Given the description of an element on the screen output the (x, y) to click on. 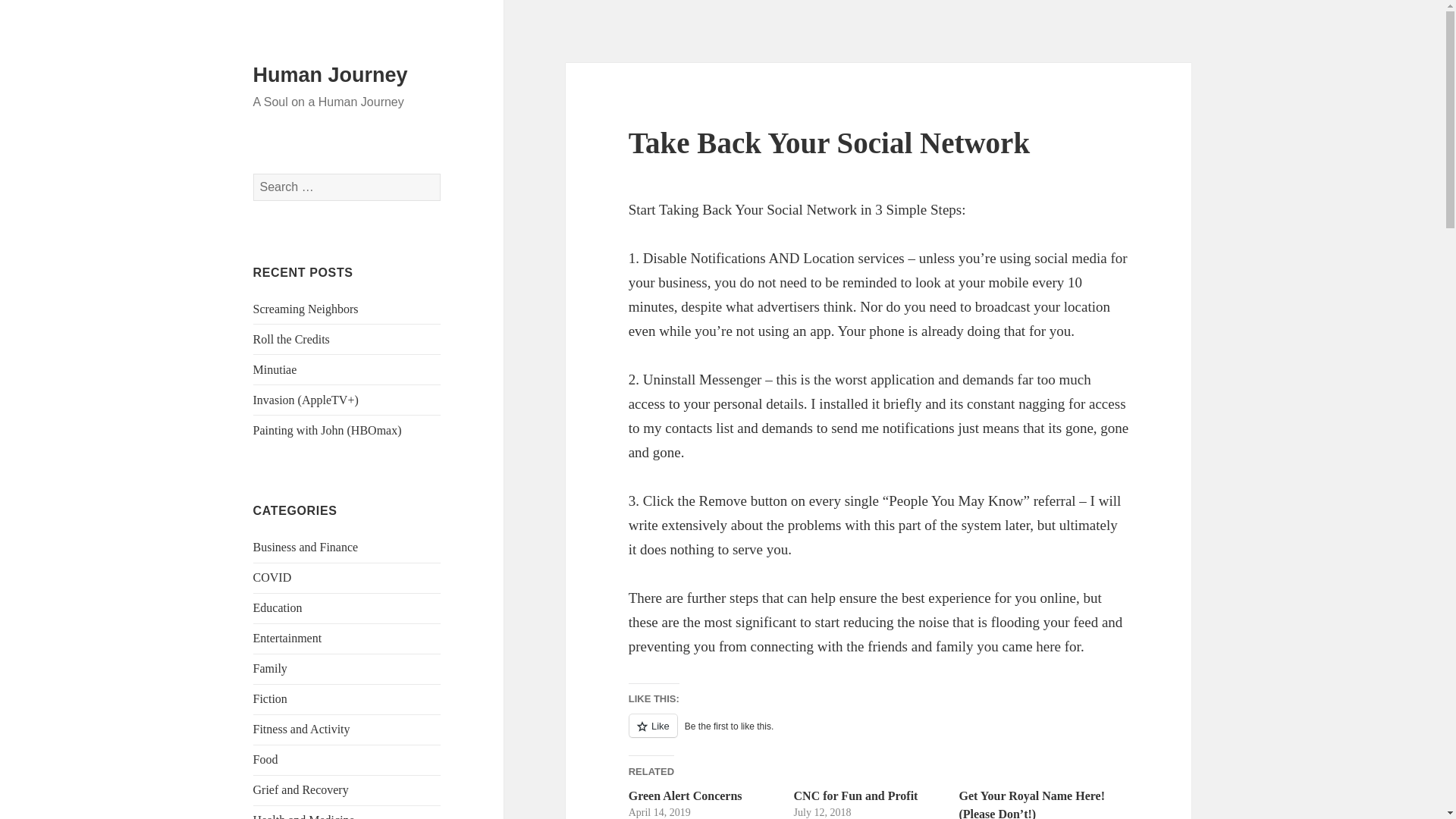
Screaming Neighbors (305, 308)
Green Alert Concerns (685, 795)
COVID (272, 576)
Health and Medicine (304, 816)
Entertainment (287, 637)
CNC for Fun and Profit (855, 795)
Fitness and Activity (301, 728)
Family (269, 667)
